Given the description of an element on the screen output the (x, y) to click on. 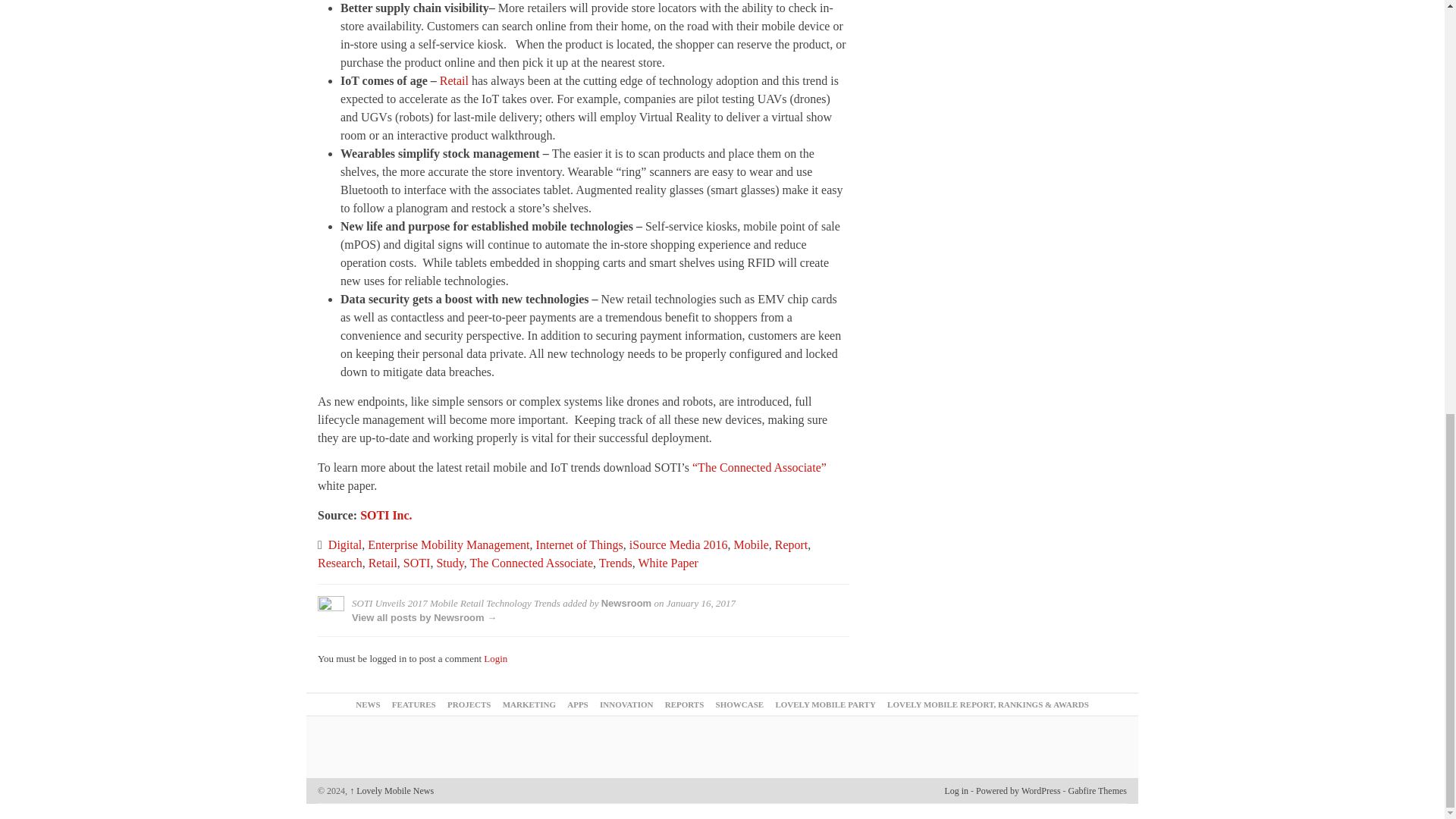
Lovely Mobile News (391, 790)
Retail (453, 80)
Internet of Things (579, 544)
iSource Media 2016 (678, 544)
Digital (345, 544)
Enterprise Mobility Management (448, 544)
SOTI Inc. (385, 514)
